Given the description of an element on the screen output the (x, y) to click on. 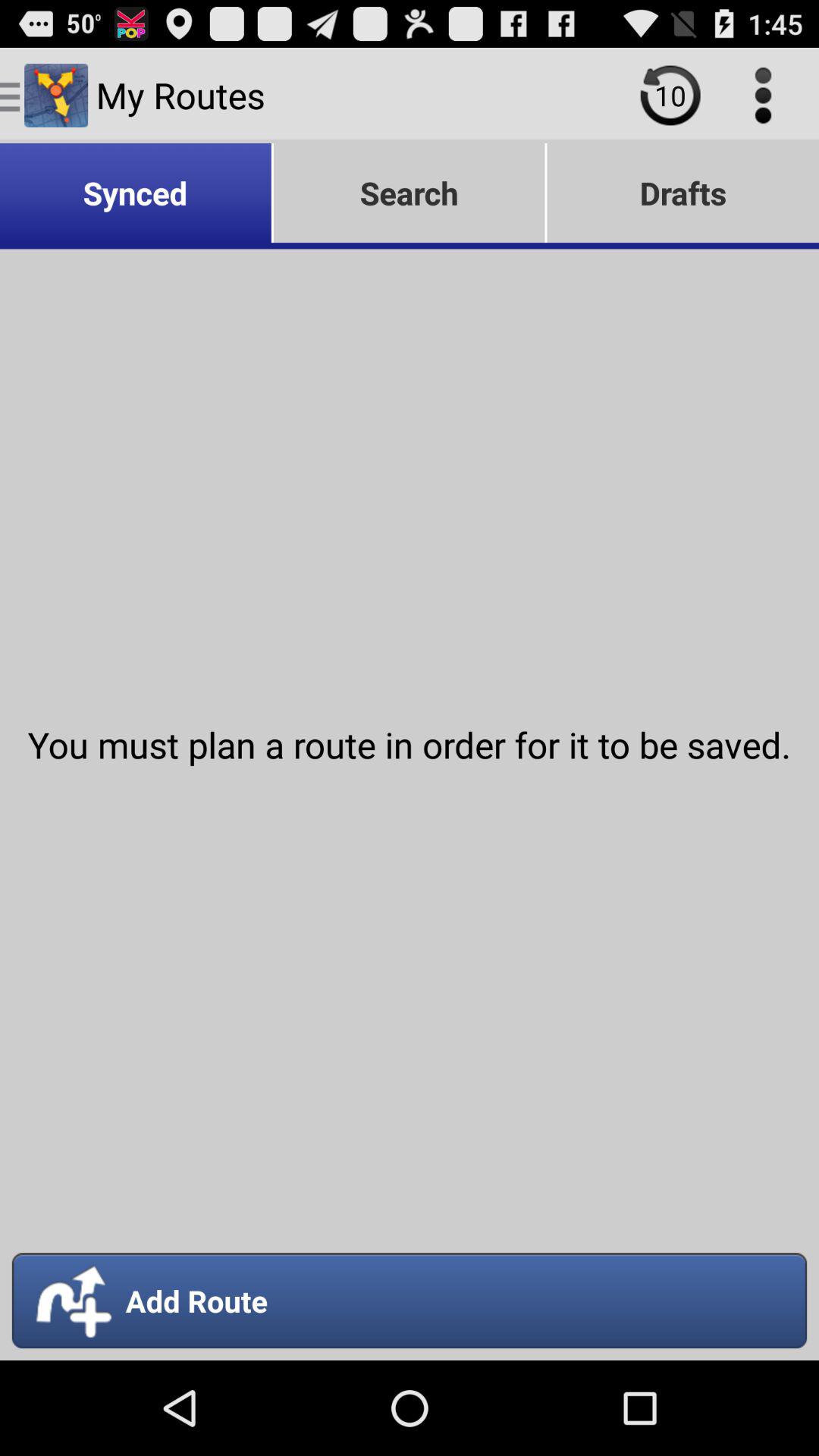
turn off app to the right of the my routes app (670, 95)
